Given the description of an element on the screen output the (x, y) to click on. 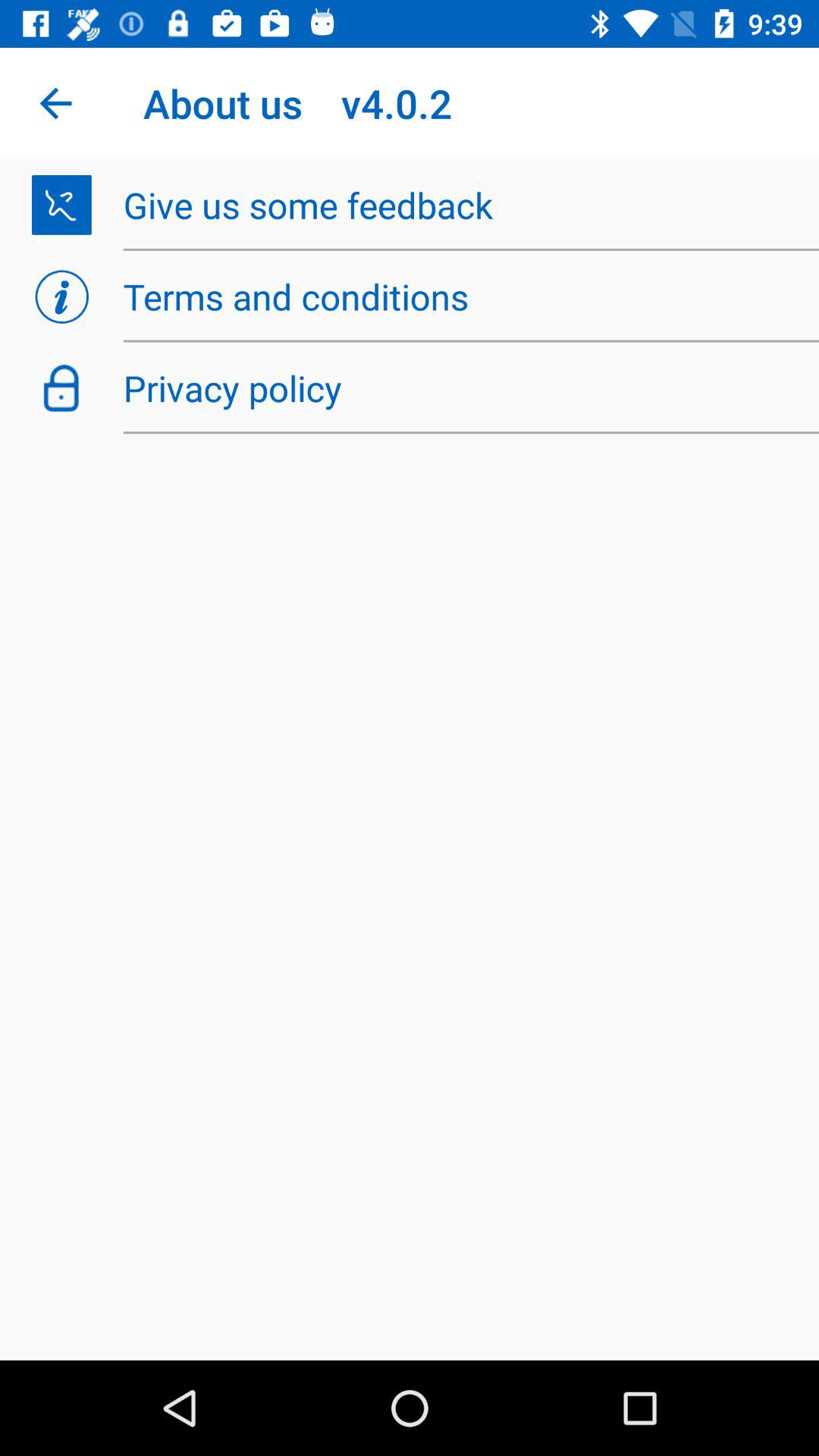
swipe until give us some (463, 204)
